Given the description of an element on the screen output the (x, y) to click on. 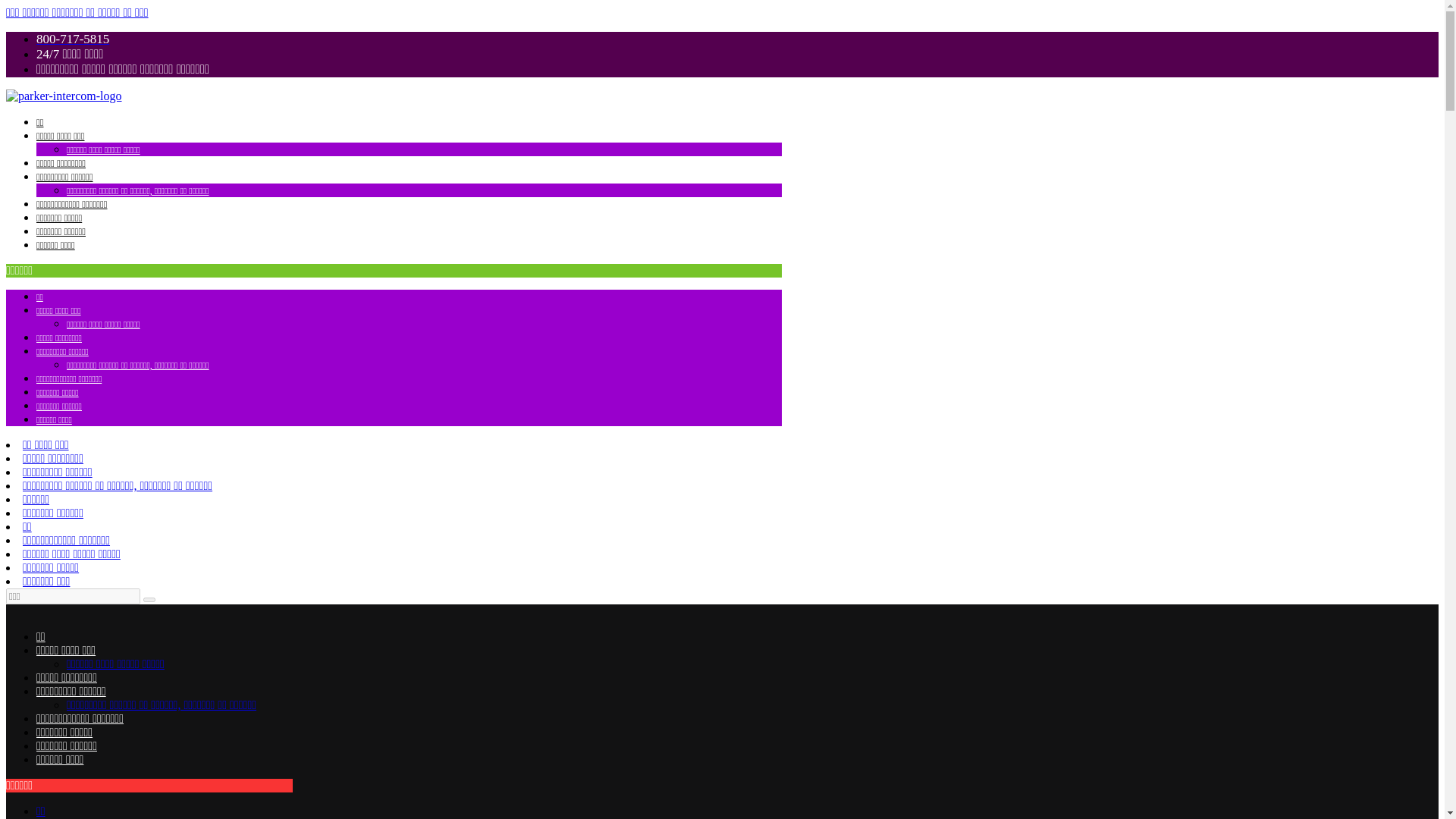
800-717-5815 (72, 38)
